Given the description of an element on the screen output the (x, y) to click on. 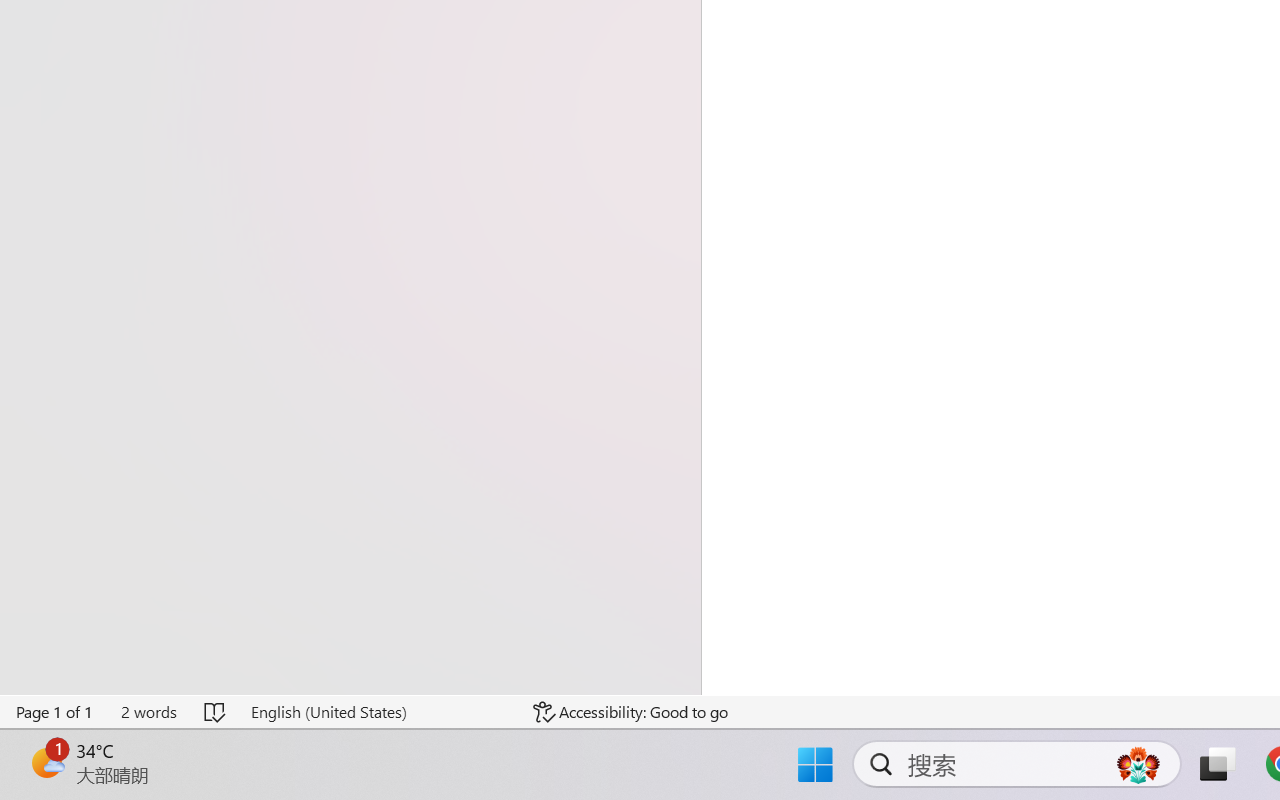
Accessibility Checker Accessibility: Good to go (384, 743)
Spell Check  (92, 743)
PowerPoint - 2 running windows (656, 777)
Visual Studio Code - 1 running window (607, 777)
Start (24, 777)
Type here to search (191, 777)
Search highlights icon opens search home window (295, 777)
File Explorer (460, 777)
Microsoft Store (509, 777)
Microsoft Edge - 1 running window (411, 777)
Task View (359, 777)
